Given the description of an element on the screen output the (x, y) to click on. 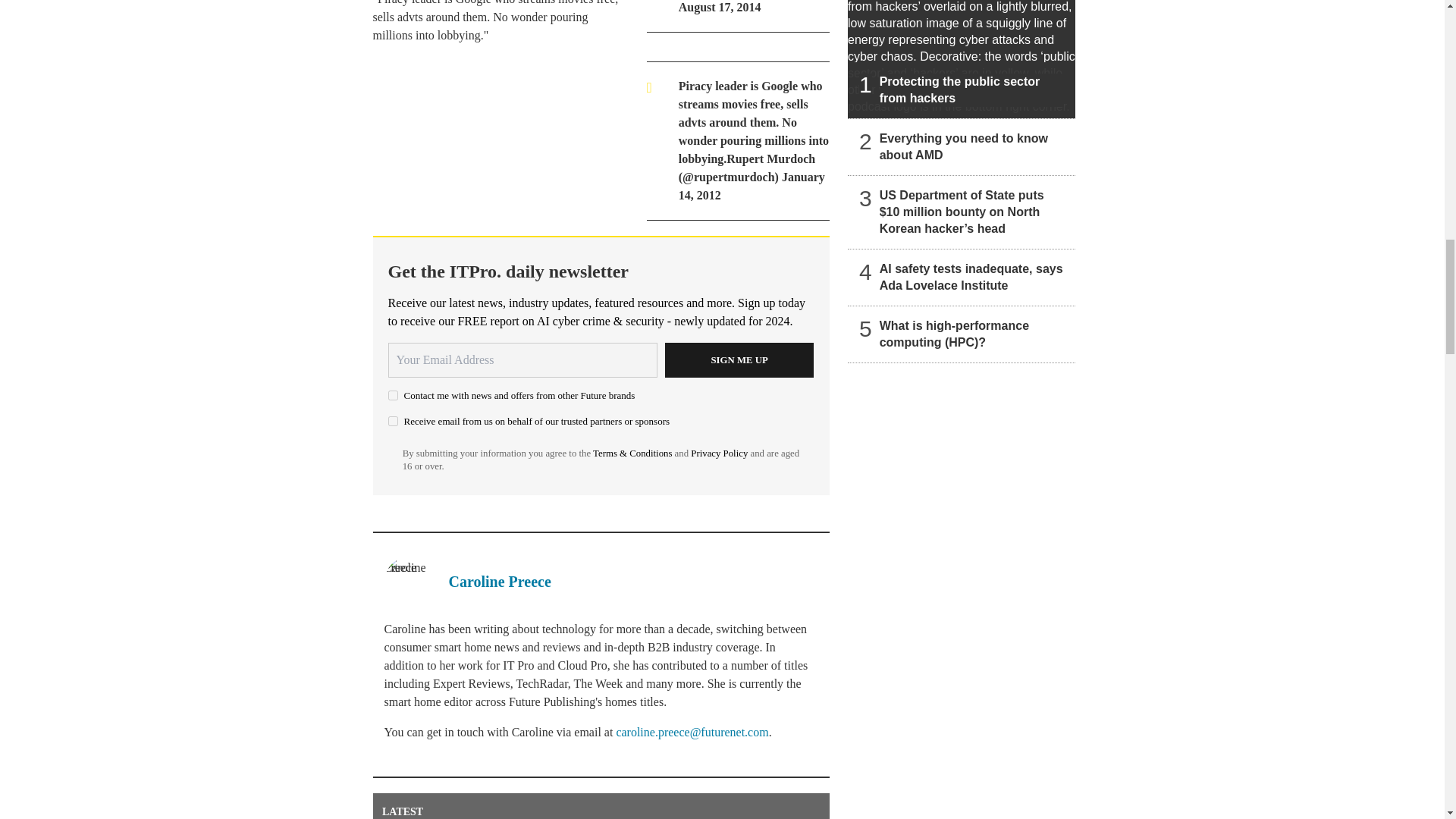
on (392, 395)
Sign me up (739, 360)
Protecting the public sector from hackers (961, 58)
on (392, 420)
